Given the description of an element on the screen output the (x, y) to click on. 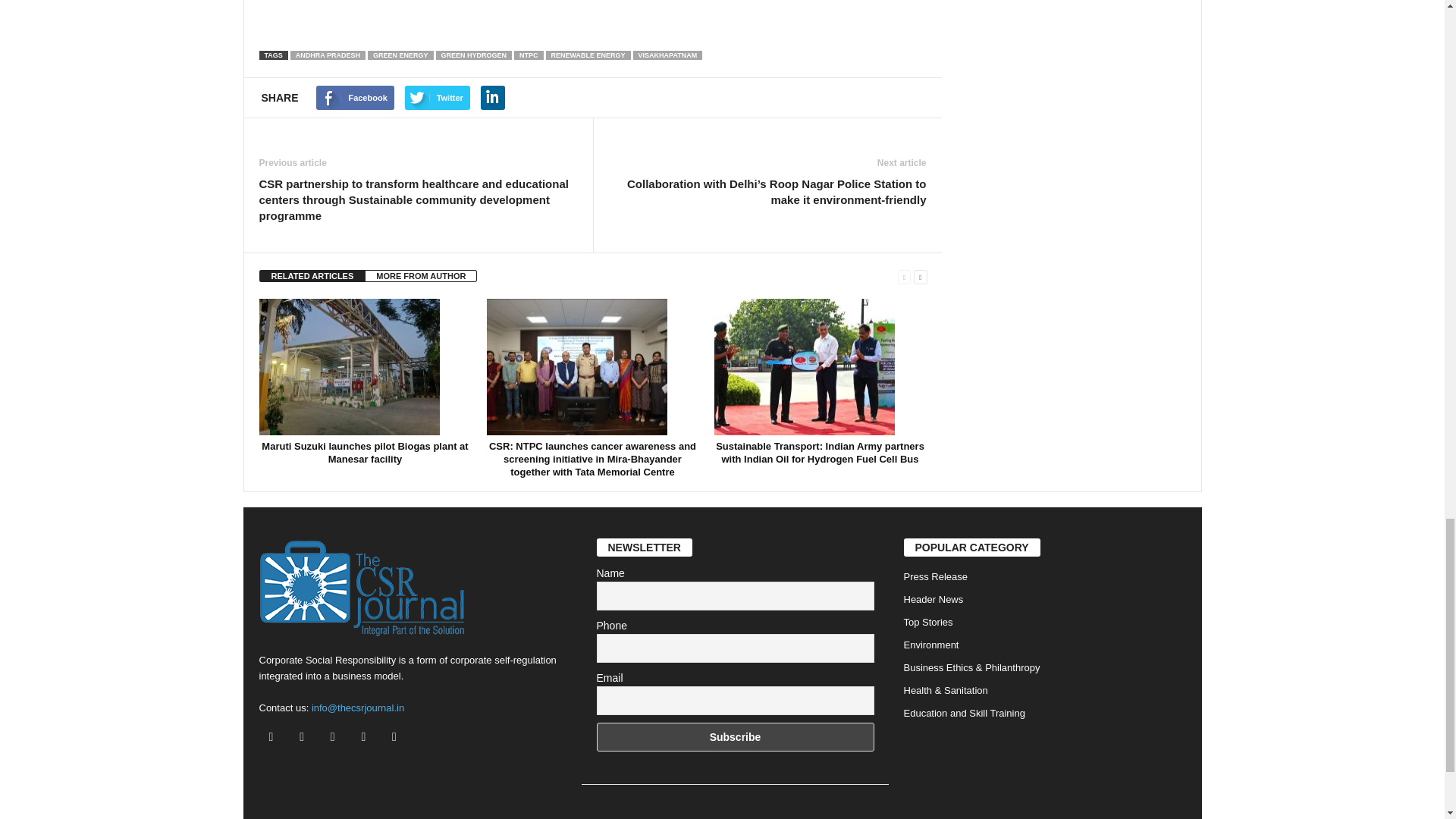
Subscribe (734, 736)
